Given the description of an element on the screen output the (x, y) to click on. 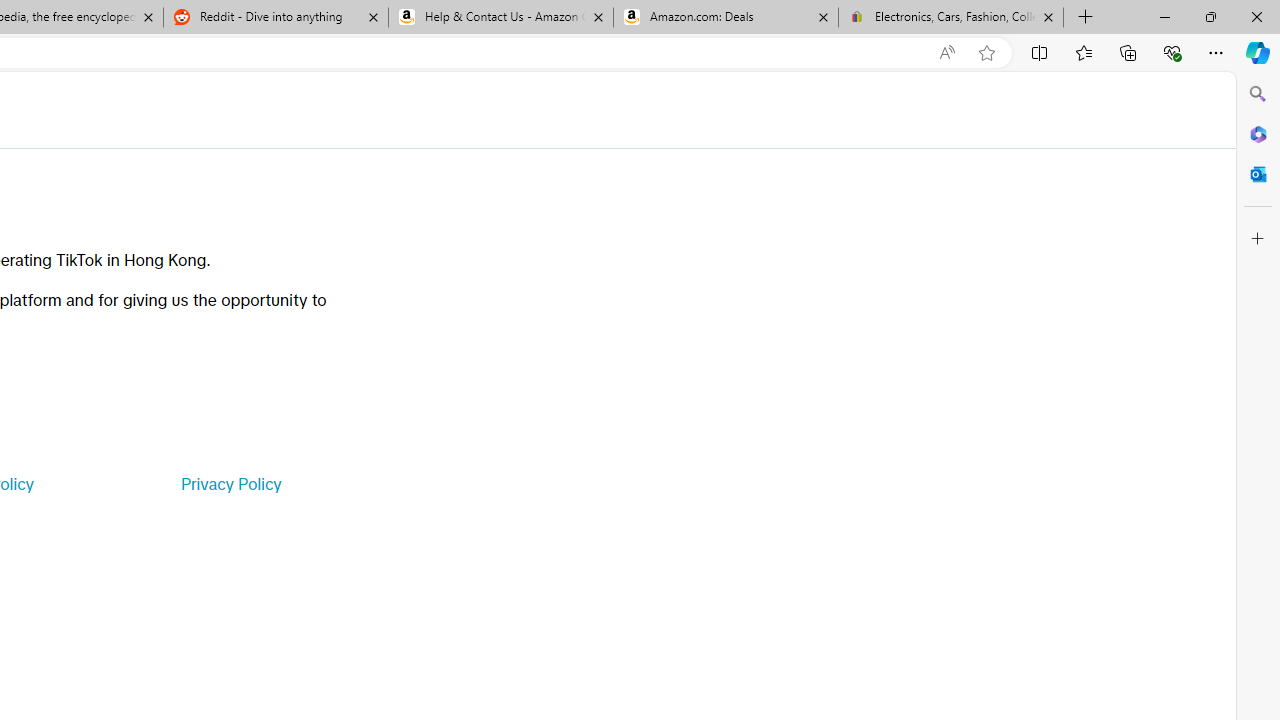
Privacy Policy (230, 484)
Help & Contact Us - Amazon Customer Service (501, 17)
